Given the description of an element on the screen output the (x, y) to click on. 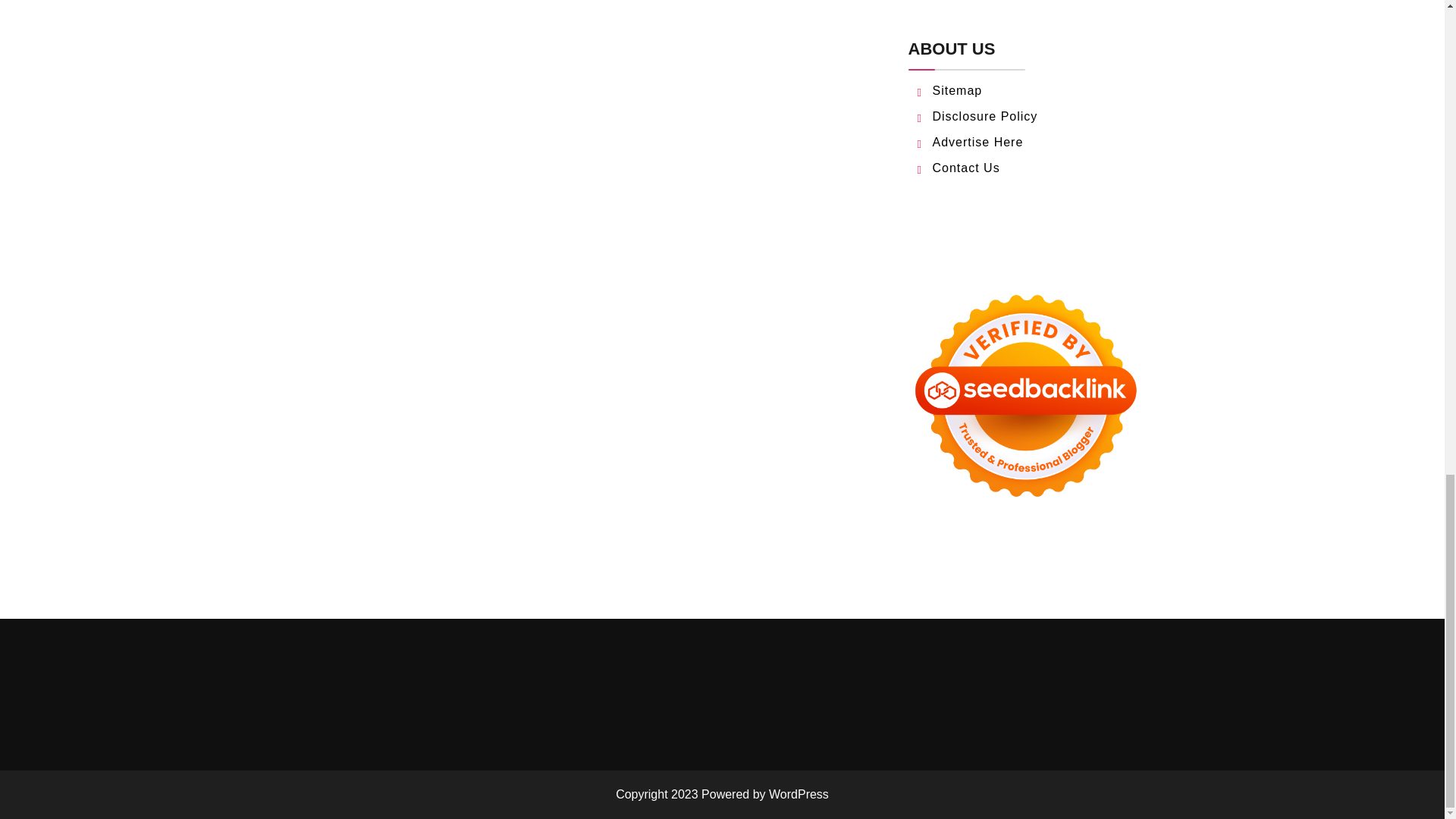
Seedbacklink (1025, 395)
